Given the description of an element on the screen output the (x, y) to click on. 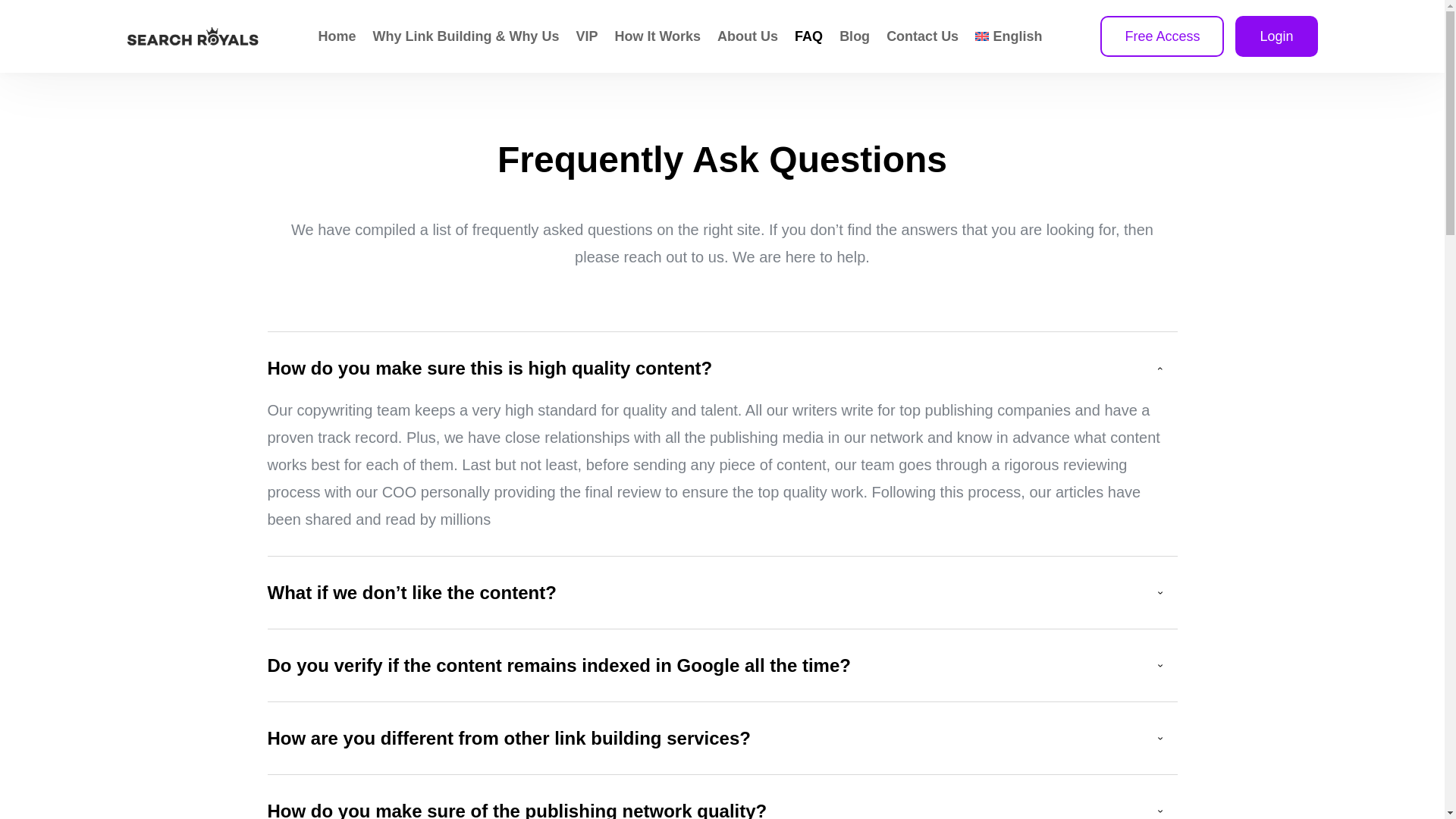
Login (1275, 36)
English (1016, 36)
About Us (747, 36)
Free Access (1162, 36)
Contact Us (922, 36)
English (1016, 36)
How It Works (657, 36)
